Given the description of an element on the screen output the (x, y) to click on. 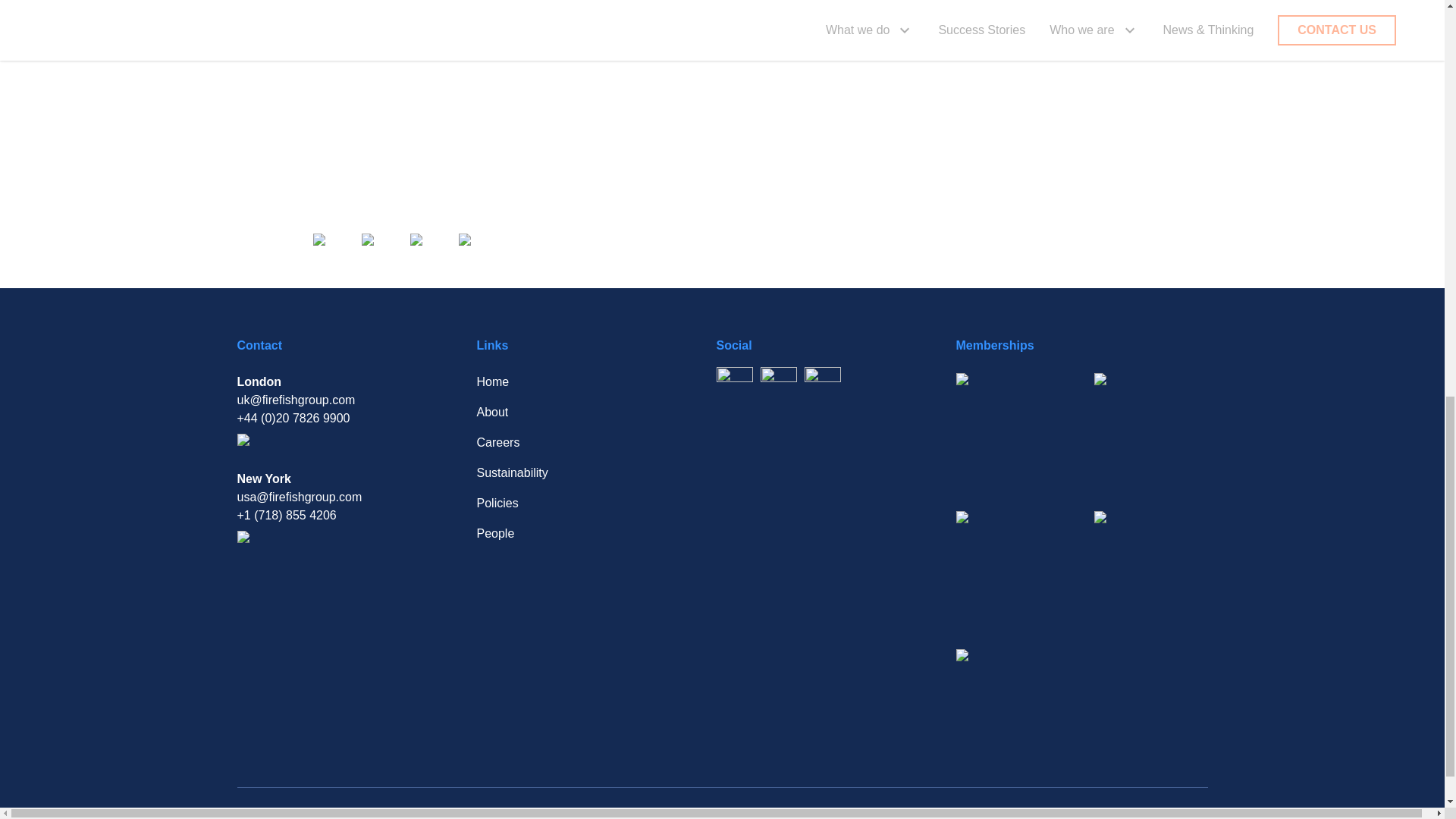
Sustainability (574, 473)
Home (574, 382)
Careers (574, 443)
Policies (574, 503)
About (574, 412)
